Given the description of an element on the screen output the (x, y) to click on. 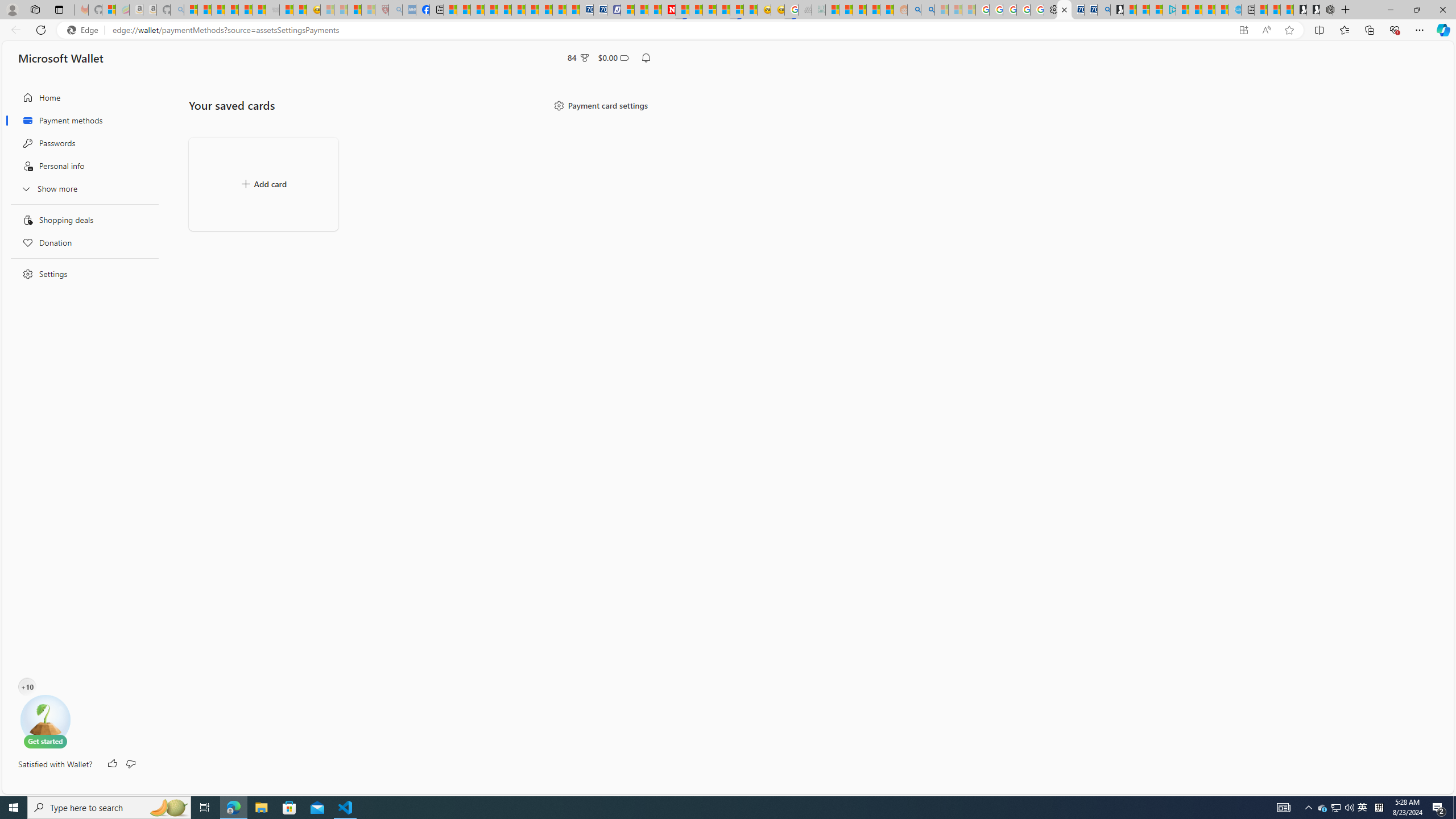
Cheap Hotels - Save70.com (599, 9)
Class: ___1lmltc5 f1agt3bx f12qytpq (624, 57)
Notification (646, 58)
New Report Confirms 2023 Was Record Hot | Watch (245, 9)
Passwords (81, 142)
